Given the description of an element on the screen output the (x, y) to click on. 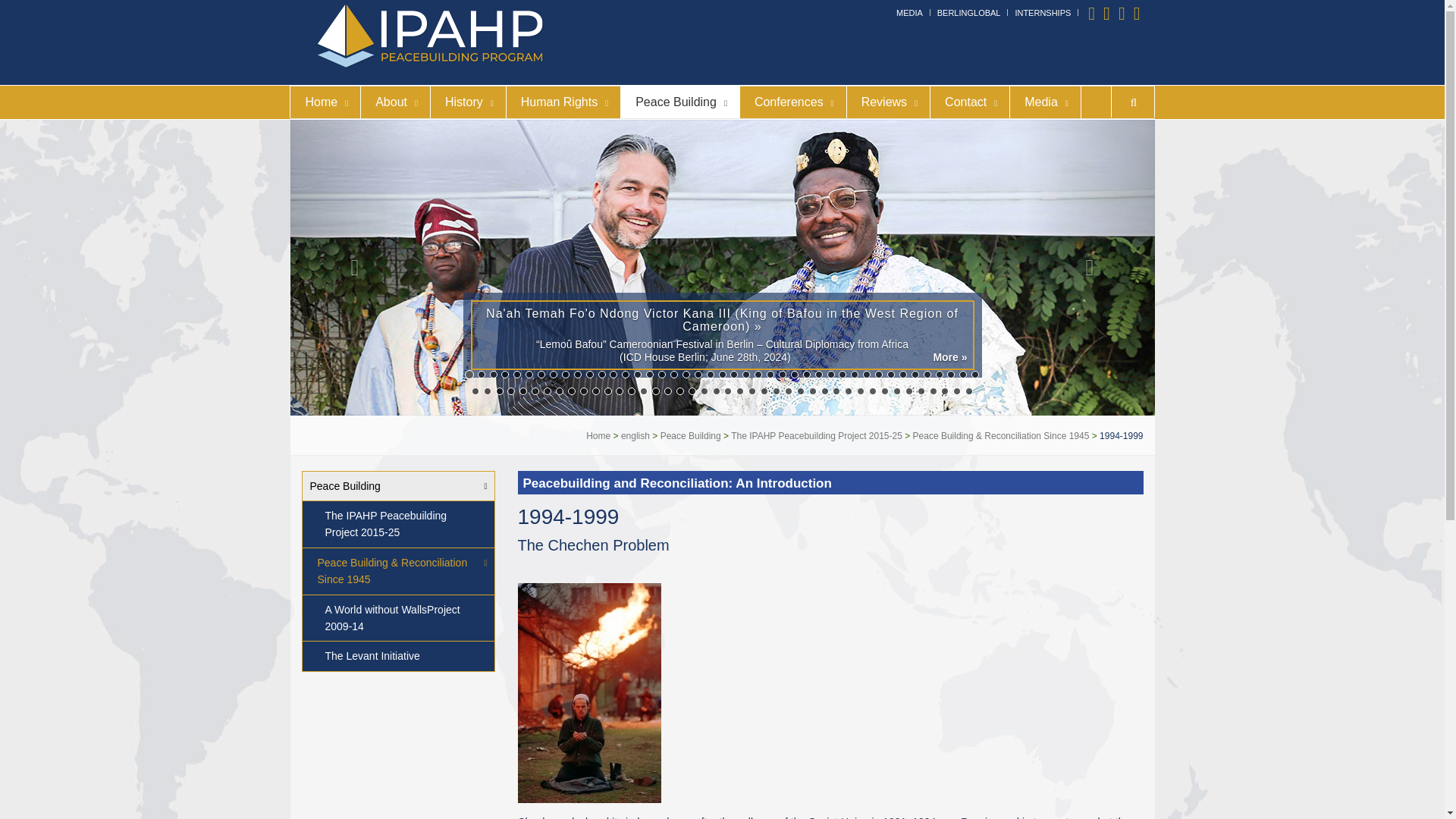
A World without WallsProject 2009-14 (397, 618)
Media (1044, 101)
Home (324, 101)
Reviews (887, 101)
About (394, 101)
Peace Building (679, 101)
About (394, 101)
Contact (969, 101)
Peace Building (397, 486)
BERLINGLOBAL (969, 12)
Conferences (792, 101)
MEDIA (909, 12)
History (467, 101)
Peace Building (679, 101)
Contact (969, 101)
